Given the description of an element on the screen output the (x, y) to click on. 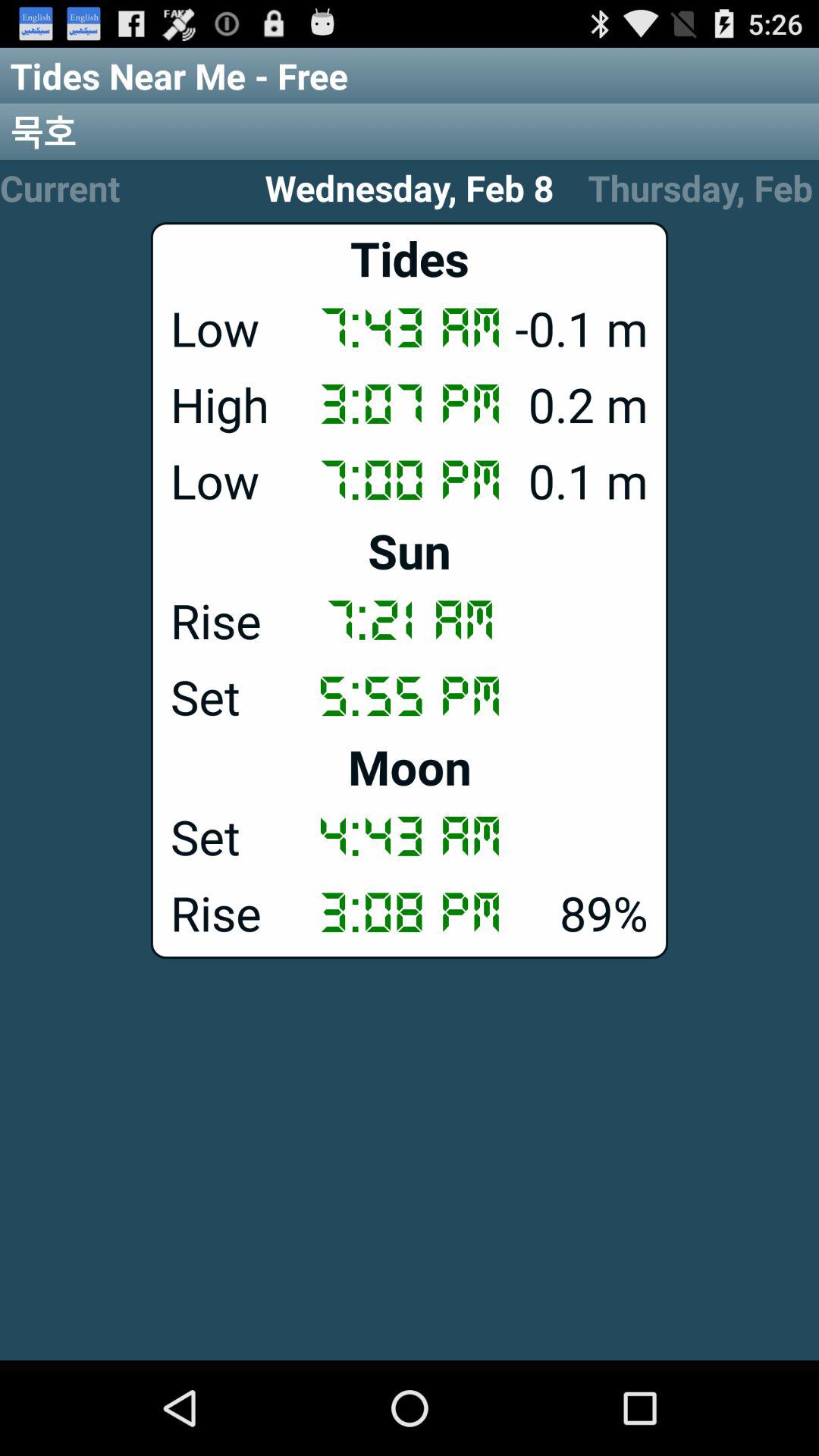
turn on the 5:55 pm (409, 695)
